Given the description of an element on the screen output the (x, y) to click on. 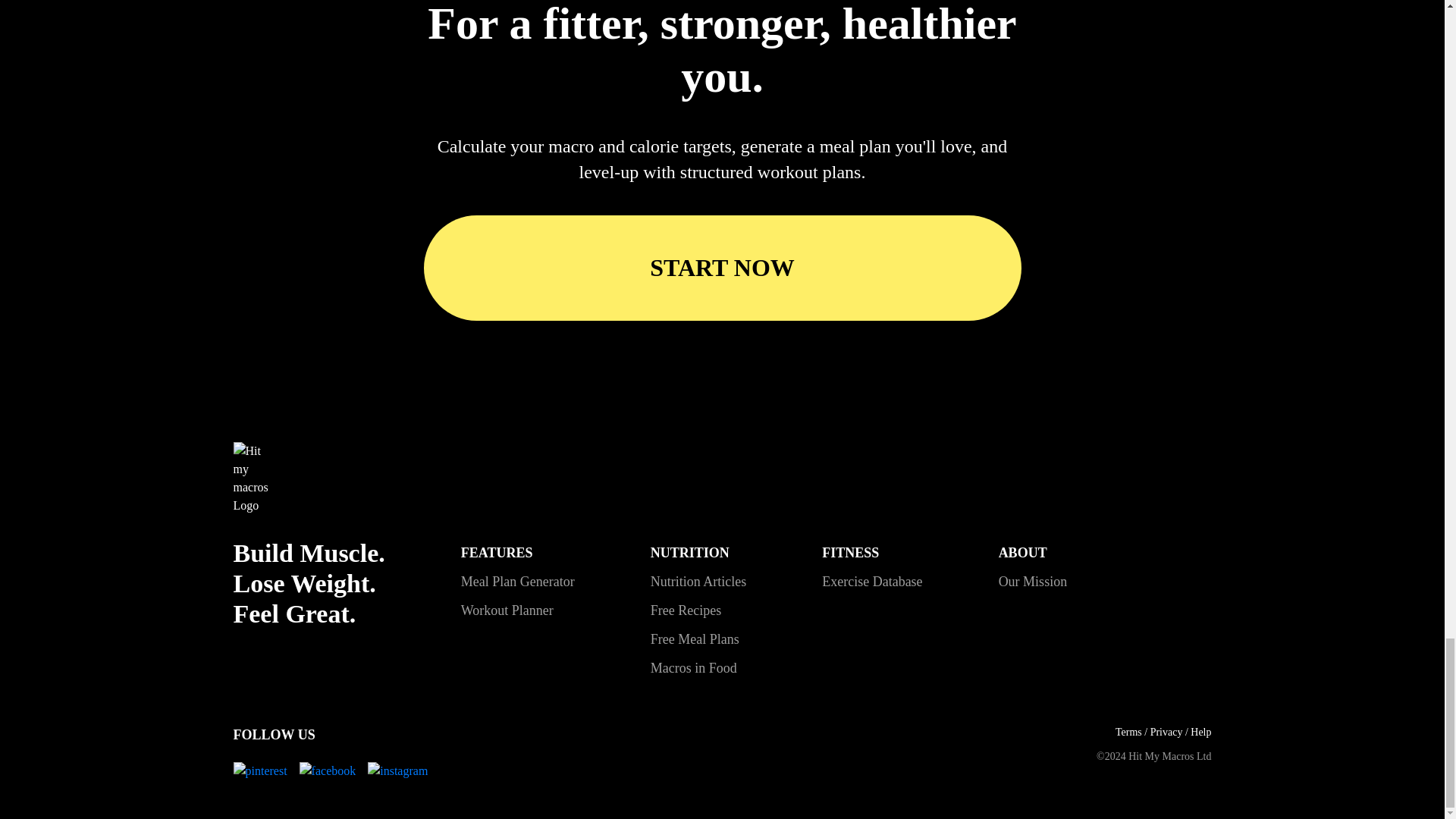
START NOW (721, 268)
Nutrition Articles (697, 581)
Workout Planner (507, 610)
Privacy (1166, 731)
Free Recipes (685, 610)
Meal Plan Generator (518, 581)
Free Meal Plans (694, 639)
Exercise Database (871, 581)
Terms (1128, 731)
Macros in Food (693, 667)
Help (1201, 731)
Our Mission (1032, 581)
